Given the description of an element on the screen output the (x, y) to click on. 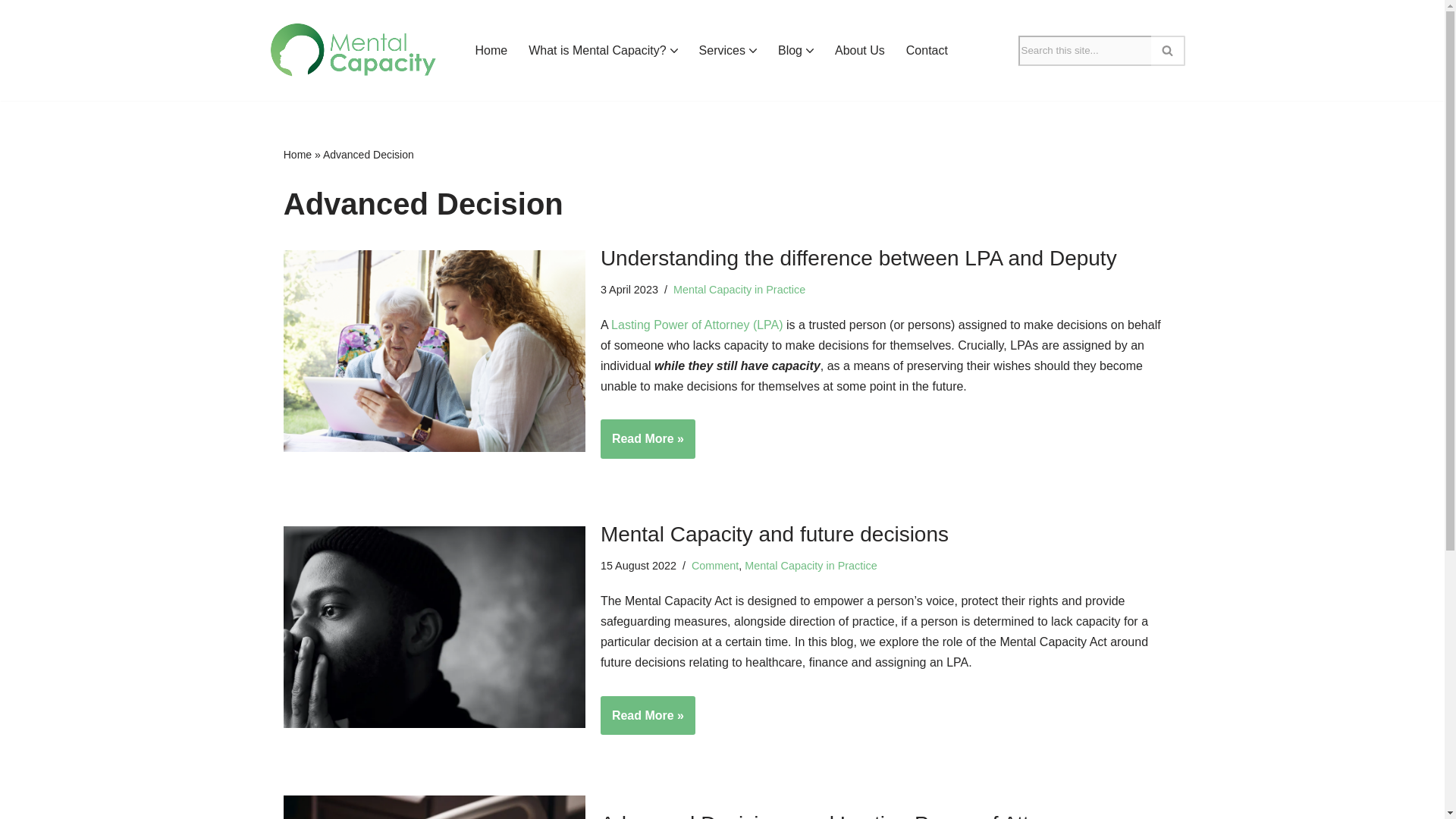
Contact (926, 50)
Services (721, 50)
Advanced Decisions and Lasting Power of Attorney (434, 807)
Mental Capacity and future decisions (434, 626)
Skip to content (11, 31)
Blog (789, 50)
Understanding the difference between LPA and Deputy (434, 350)
About Us (859, 50)
What is Mental Capacity? (596, 50)
Home (490, 50)
